Given the description of an element on the screen output the (x, y) to click on. 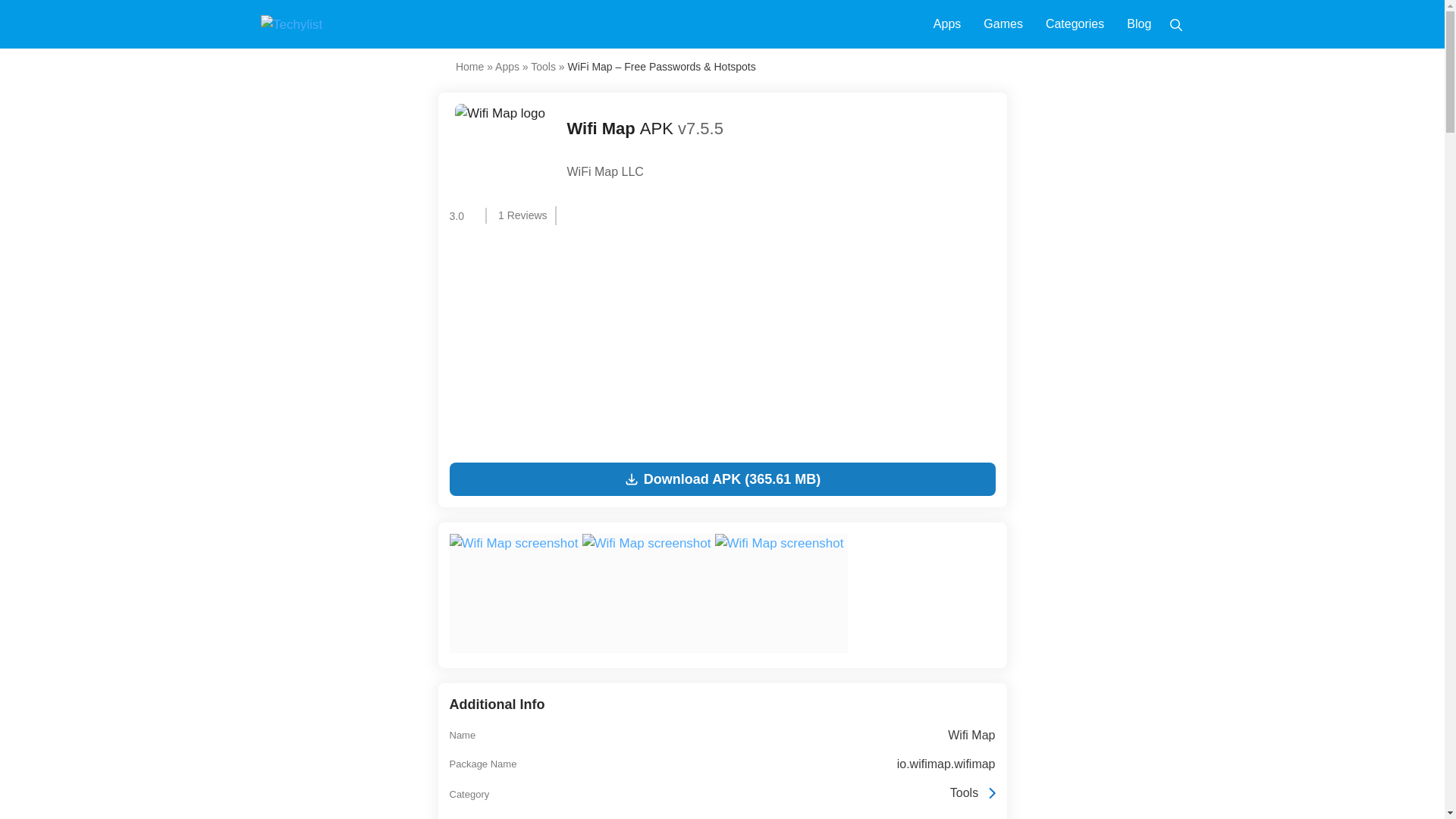
Apps (507, 66)
Wifi Map screenshot (648, 592)
Wifi Map logo (500, 149)
Advertisement (721, 342)
Games (1002, 24)
Wifi Map screenshot (778, 543)
Tools (543, 66)
Wifi Map screenshot (780, 592)
Wifi Map screenshot (513, 543)
Categories (1075, 24)
